Given the description of an element on the screen output the (x, y) to click on. 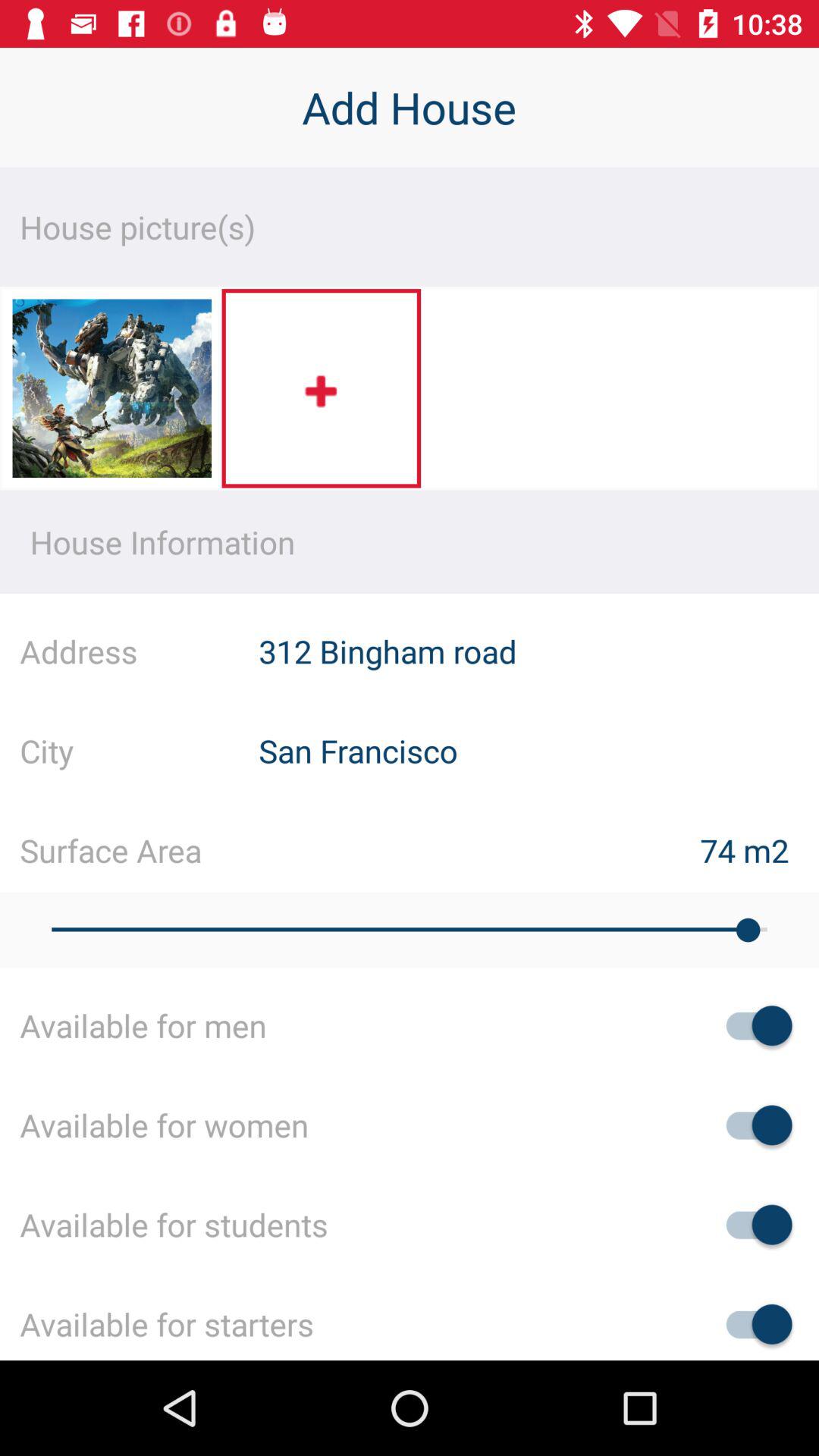
switch available for women option (751, 1125)
